Given the description of an element on the screen output the (x, y) to click on. 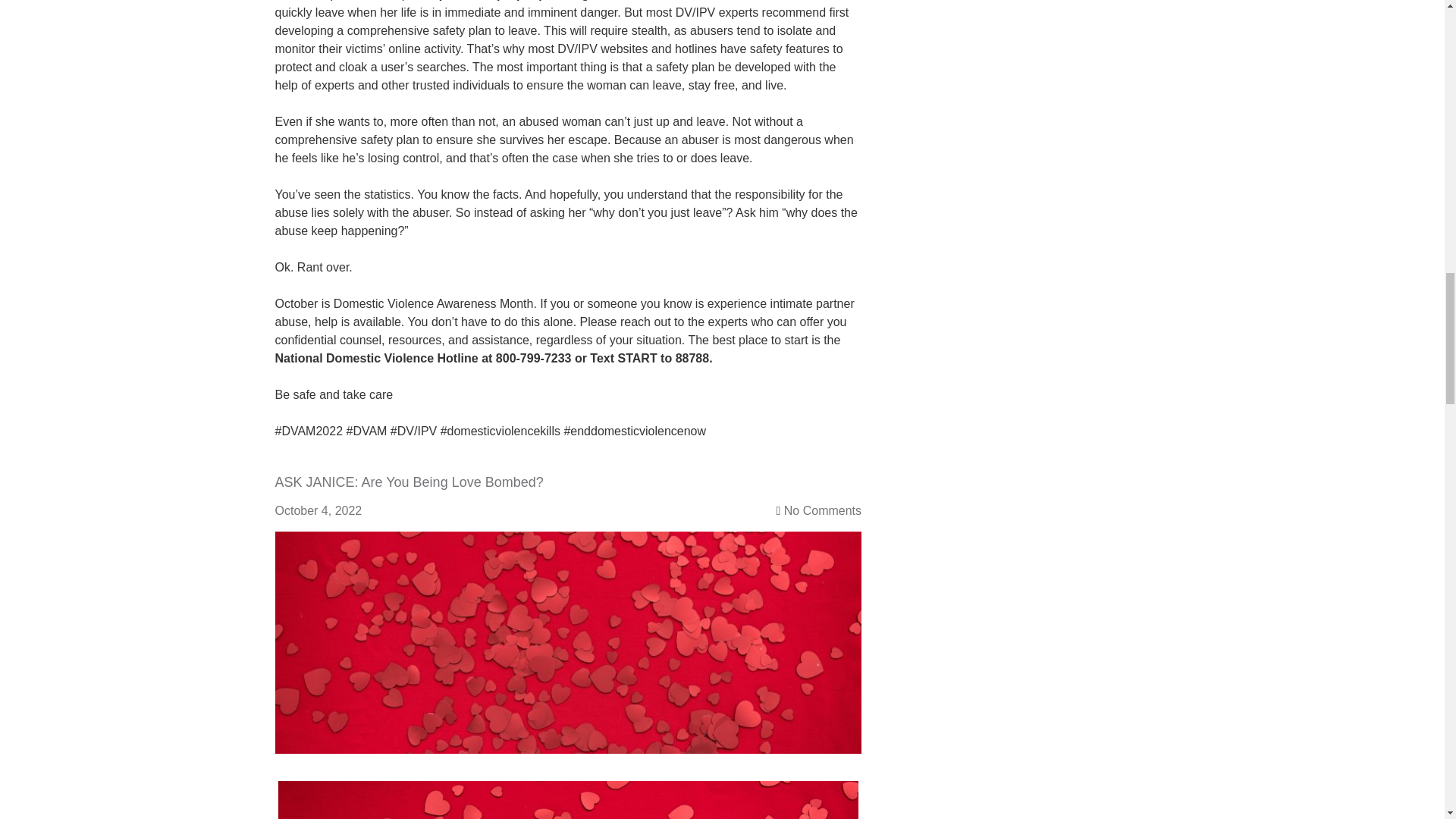
Permalink to ASK JANICE: Are You Being Love Bombed? (409, 482)
No Comments (822, 510)
Comment on ASK JANICE: Are You Being Love Bombed? (822, 510)
October 4, 2022 (326, 510)
ASK JANICE: Are You Being Love Bombed? (409, 482)
Permalink to ASK JANICE: Are You Being Love Bombed? (568, 540)
